Given the description of an element on the screen output the (x, y) to click on. 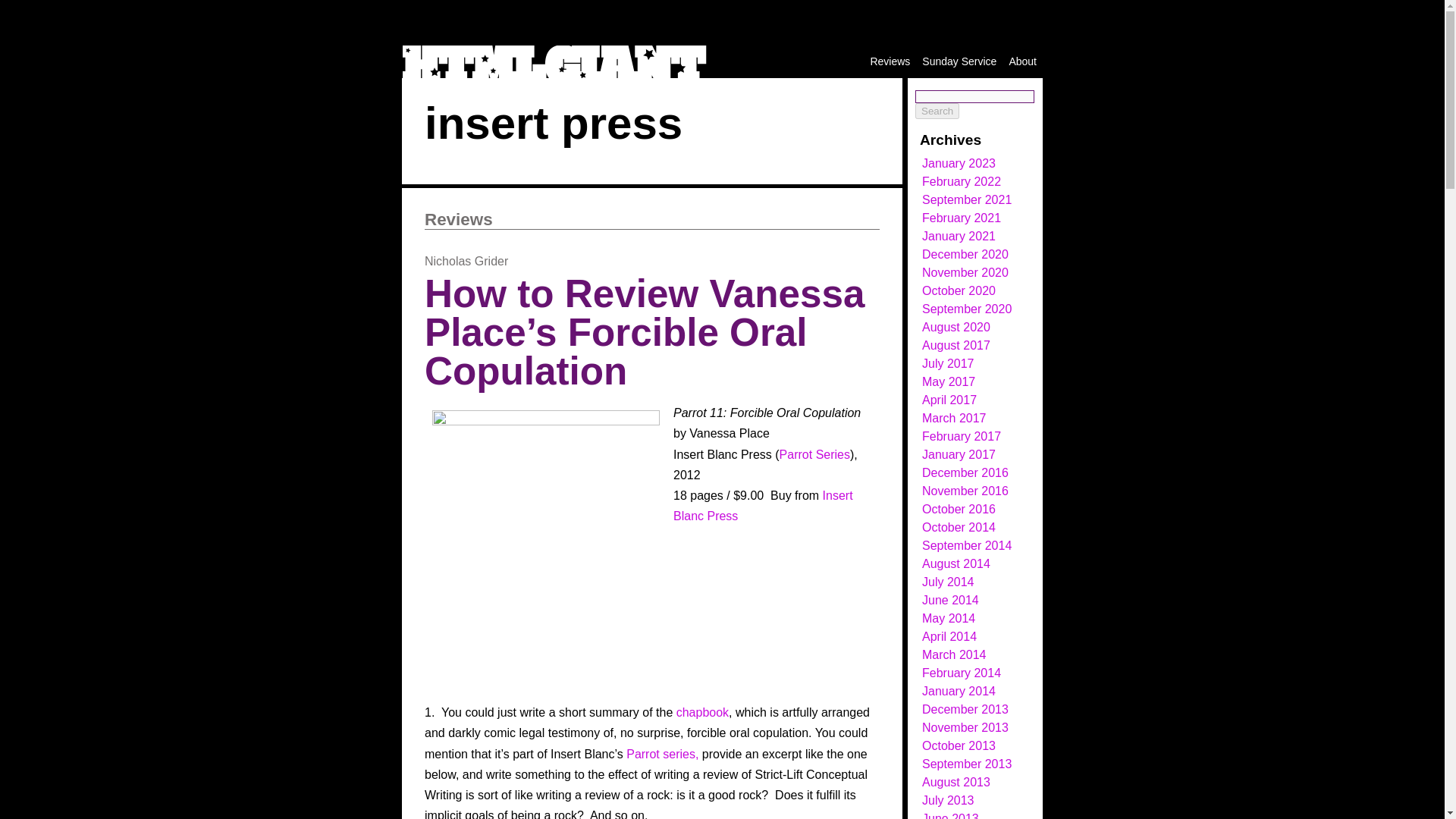
February 2021 (961, 217)
Reviews (889, 61)
Parrot Series (814, 454)
Insert Blanc Press (762, 505)
Search (937, 110)
chapbook (703, 712)
February 2022 (961, 181)
Sunday Service (958, 61)
About (1022, 61)
January 2023 (958, 163)
